Given the description of an element on the screen output the (x, y) to click on. 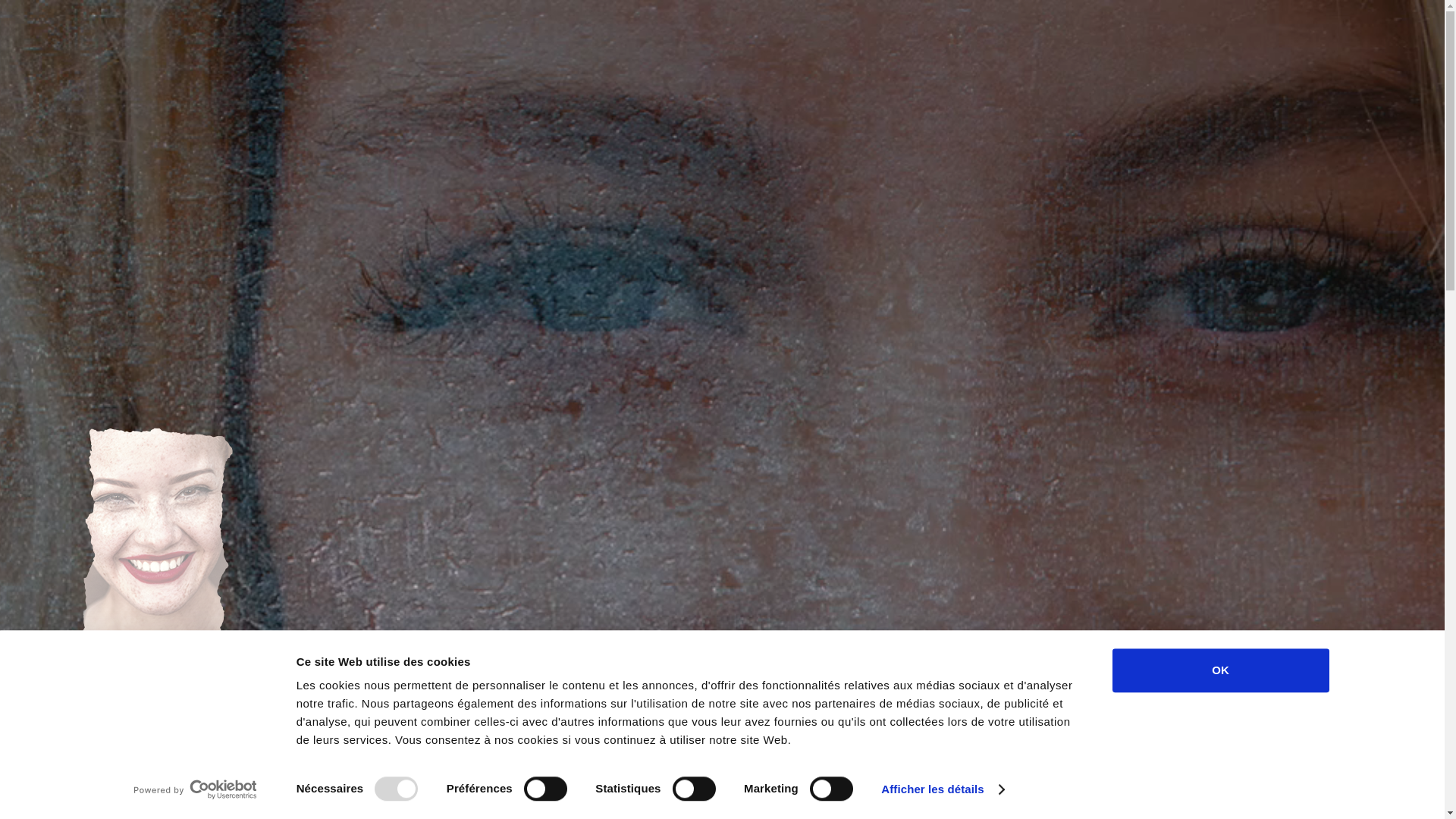
Home Element type: text (720, 182)
Overslaan en naar de inhoud gaan Element type: text (0, 0)
FR Element type: text (29, 63)
 Instagram Element type: text (560, 315)
ARCHIEVEN Element type: text (1261, 170)
NL Element type: text (57, 63)
ABONNEER JE OP DE NIEUWSBRIEF Element type: text (721, 358)
OK Element type: text (1219, 670)
PARTNERS Element type: text (1180, 170)
 Facebook Element type: text (884, 315)
DIVERCITY 2022 Element type: text (1355, 170)
 Twitter Element type: text (723, 315)
WIE ZIJN WIJ? Element type: text (937, 170)
DIVERCITY 2023 Element type: text (1037, 170)
Map Element type: text (823, 182)
Mail Element type: text (618, 182)
BRCD Element type: text (1115, 170)
